Given the description of an element on the screen output the (x, y) to click on. 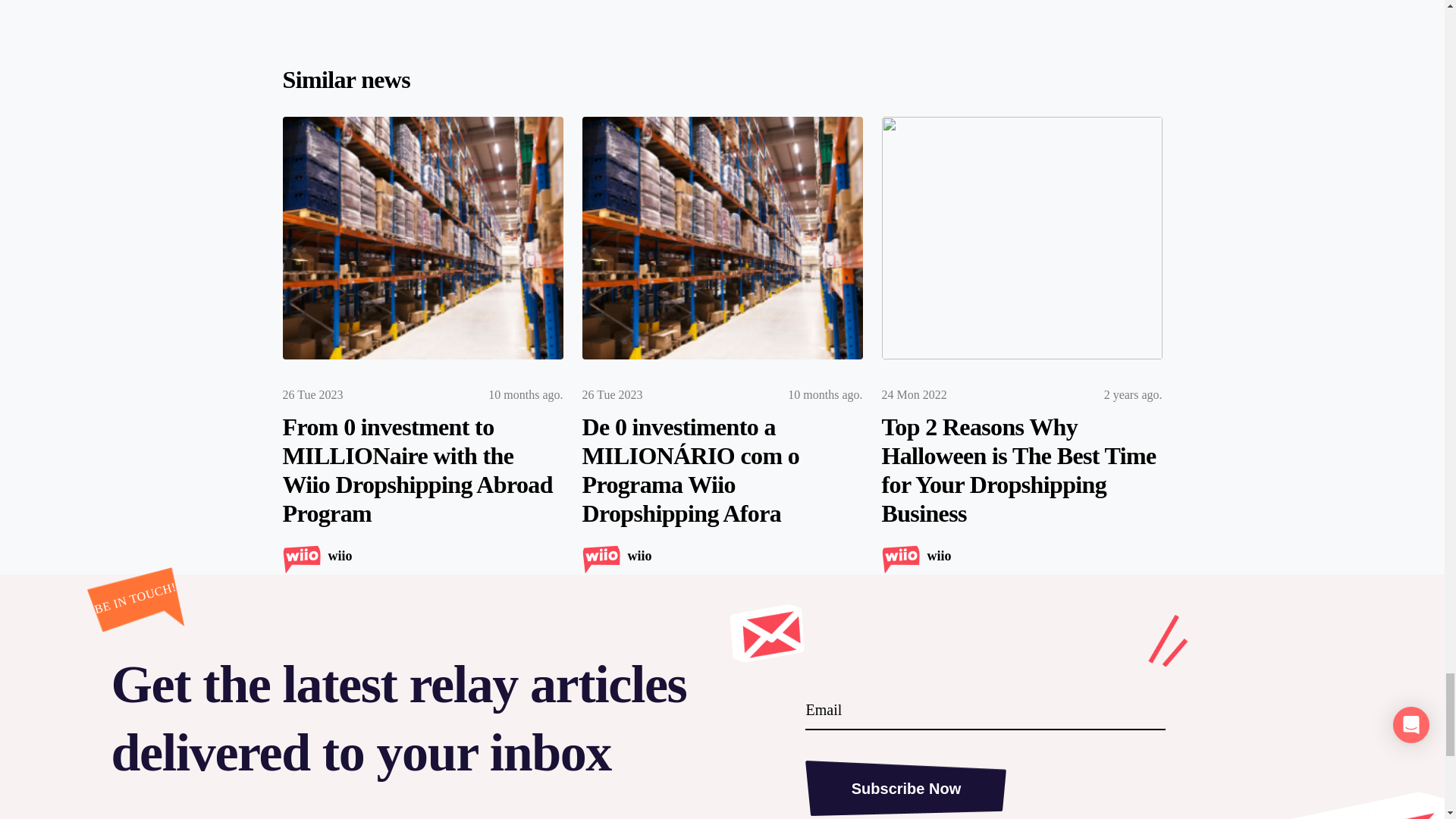
Subscribe Now (905, 787)
Subscribe Now (905, 787)
